Given the description of an element on the screen output the (x, y) to click on. 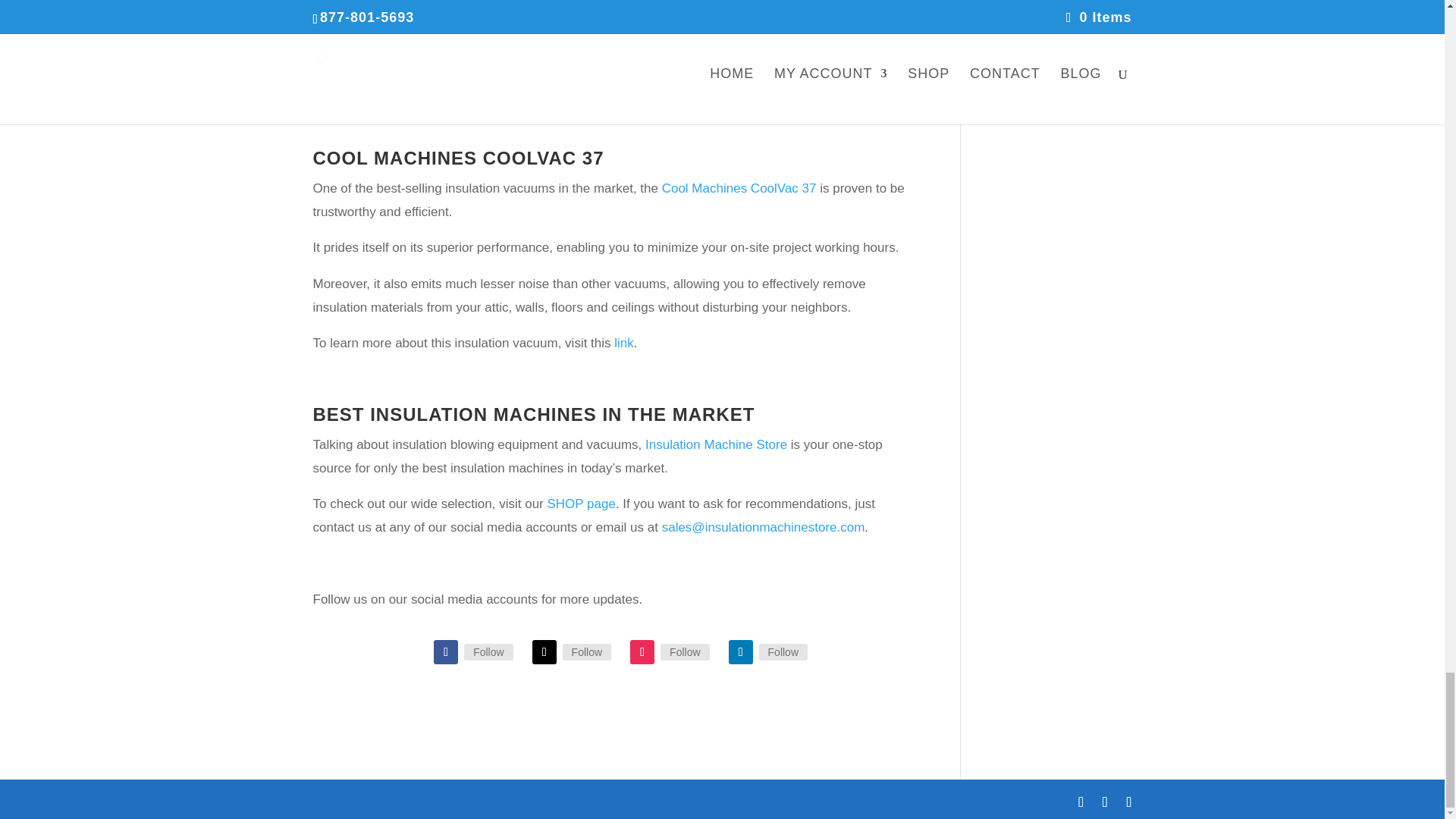
X (586, 651)
Follow on X (544, 651)
LinkedIn (783, 651)
Follow on Instagram (641, 651)
Follow on LinkedIn (740, 651)
Facebook (488, 651)
Instagram (685, 651)
Follow on Facebook (445, 651)
